Given the description of an element on the screen output the (x, y) to click on. 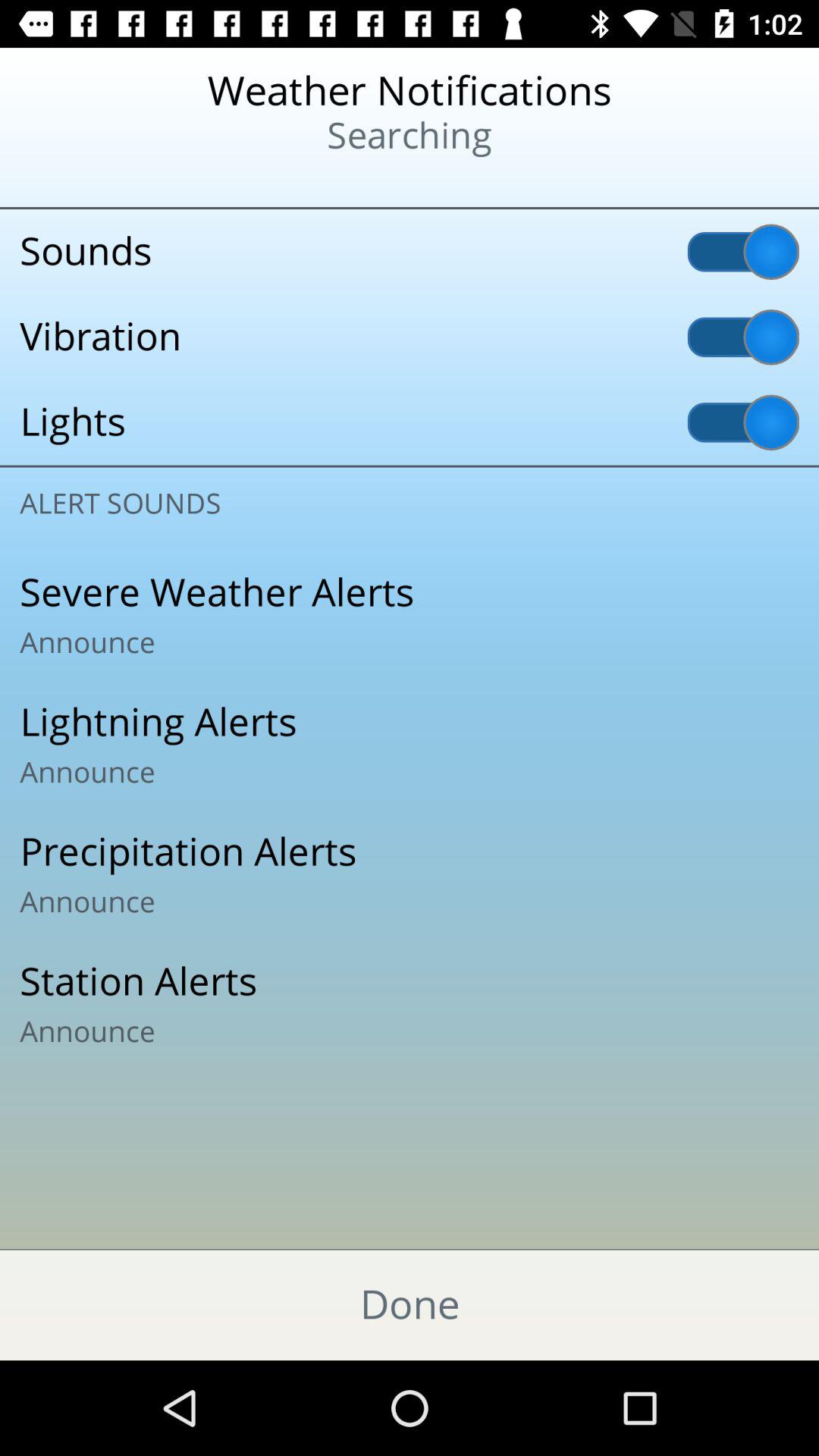
scroll to the severe weather alerts (409, 615)
